Given the description of an element on the screen output the (x, y) to click on. 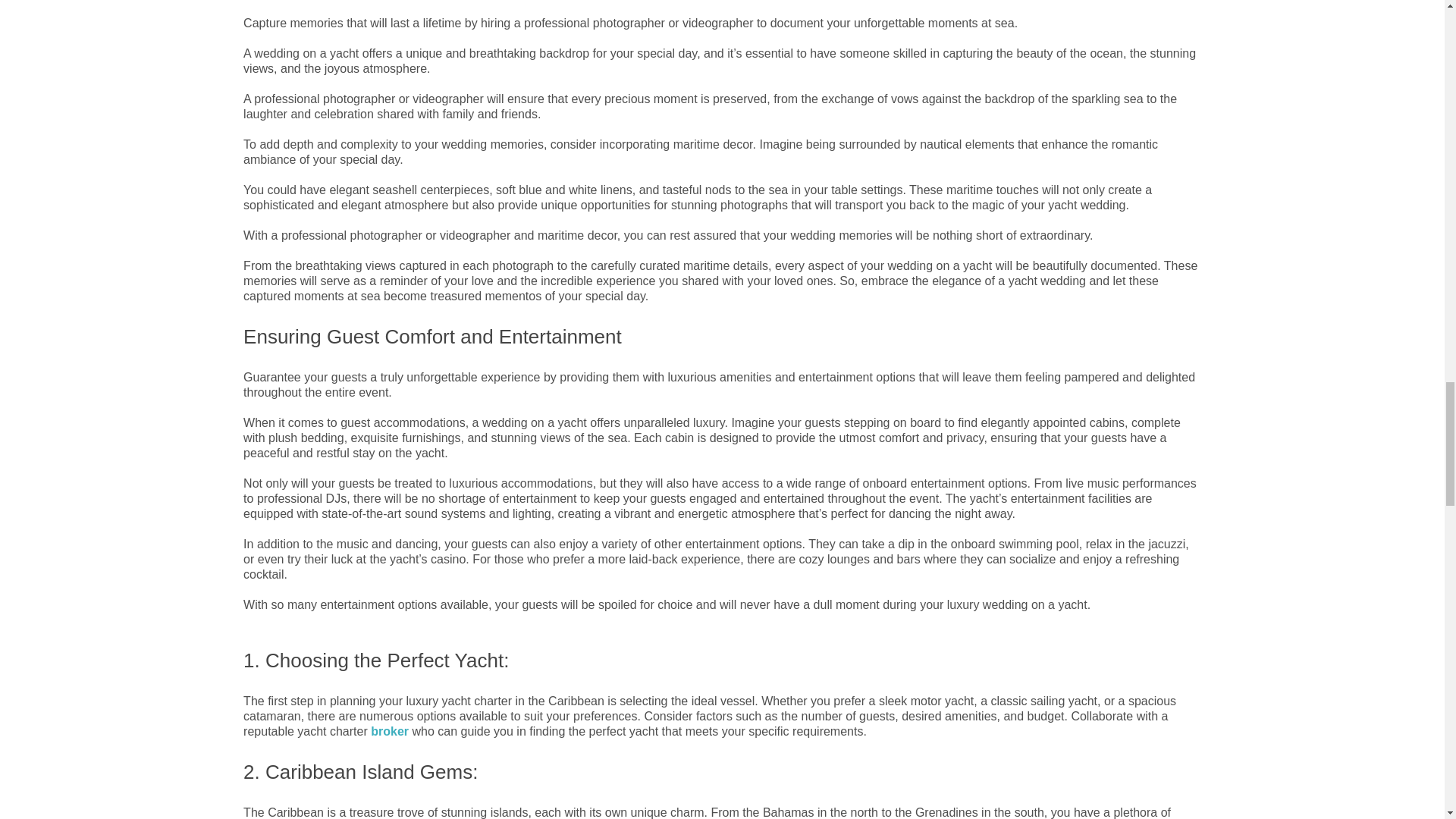
broker (390, 730)
